Given the description of an element on the screen output the (x, y) to click on. 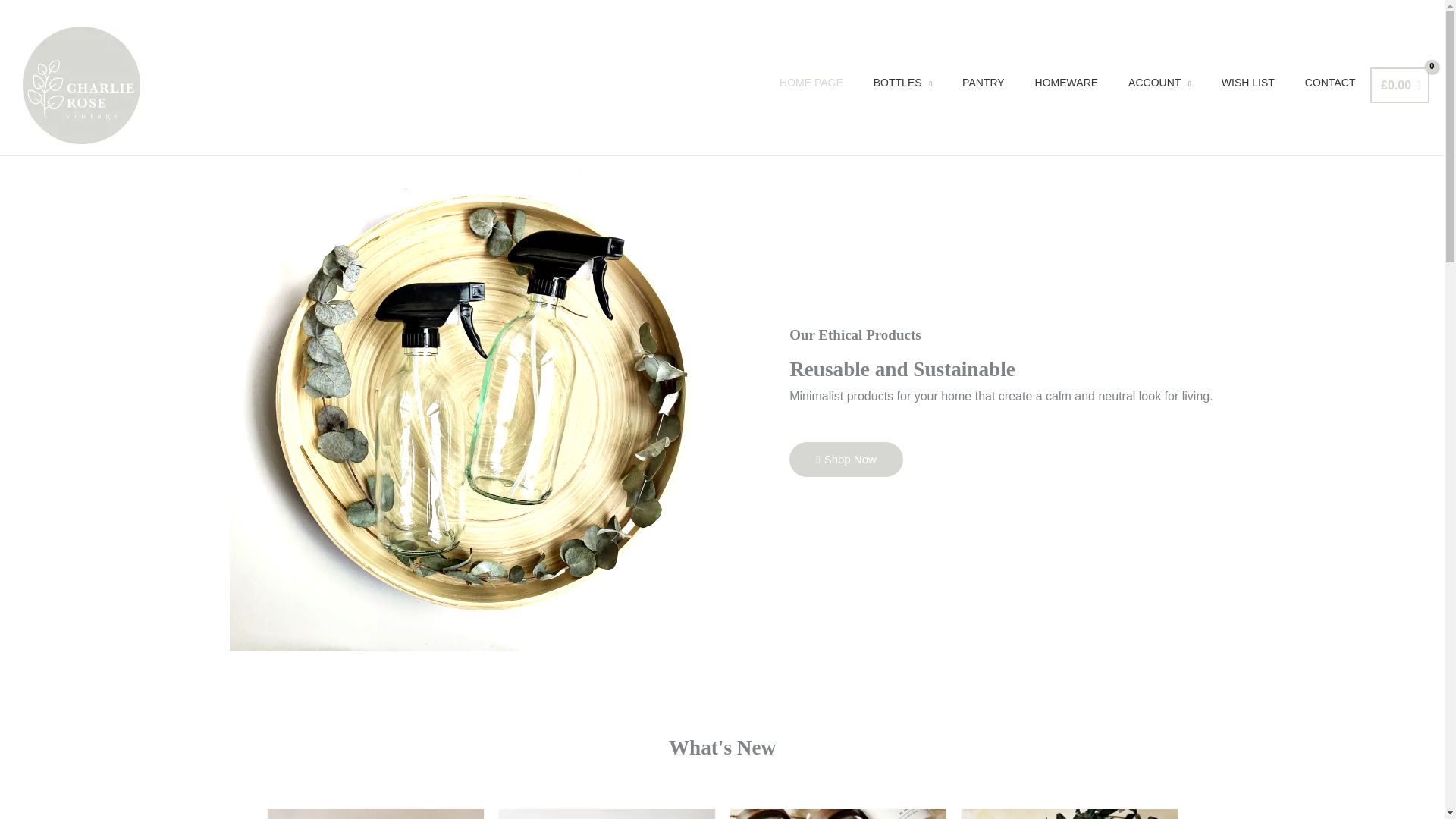
CONTACT (1330, 81)
PANTRY (983, 81)
View your shopping basket (1399, 85)
BOTTLES (903, 81)
HOME PAGE (811, 81)
Shop Now (845, 458)
WISH LIST (1248, 81)
HOMEWARE (1066, 81)
ACCOUNT (1160, 81)
